Given the description of an element on the screen output the (x, y) to click on. 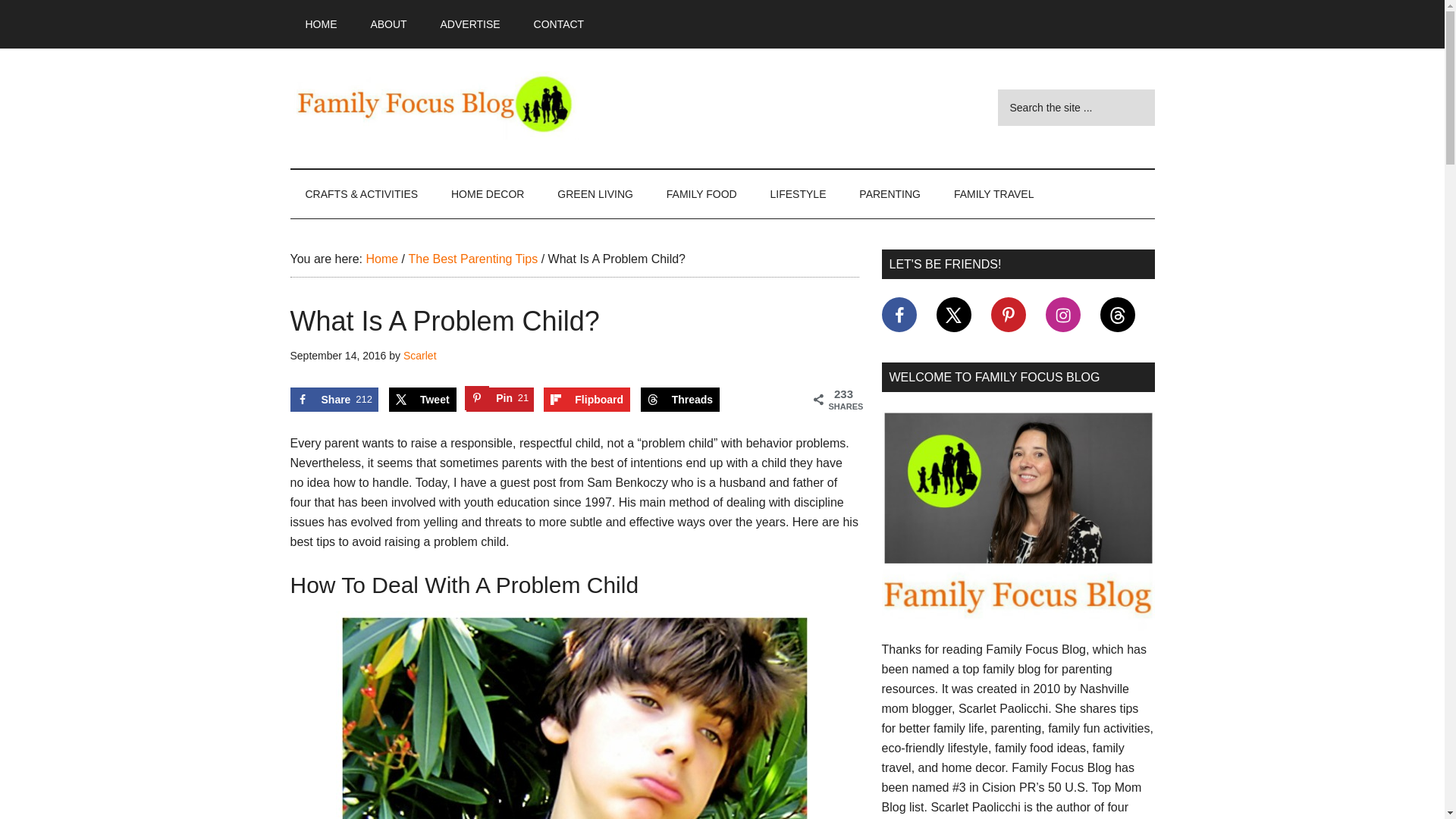
LIFESTYLE (798, 193)
Share on X (422, 399)
Follow on Threads (1116, 314)
Follow on X (953, 314)
HOME DECOR (486, 193)
Follow on Pinterest (1007, 314)
Flipboard (586, 399)
Tweet (422, 399)
Share on Flipboard (586, 399)
